Given the description of an element on the screen output the (x, y) to click on. 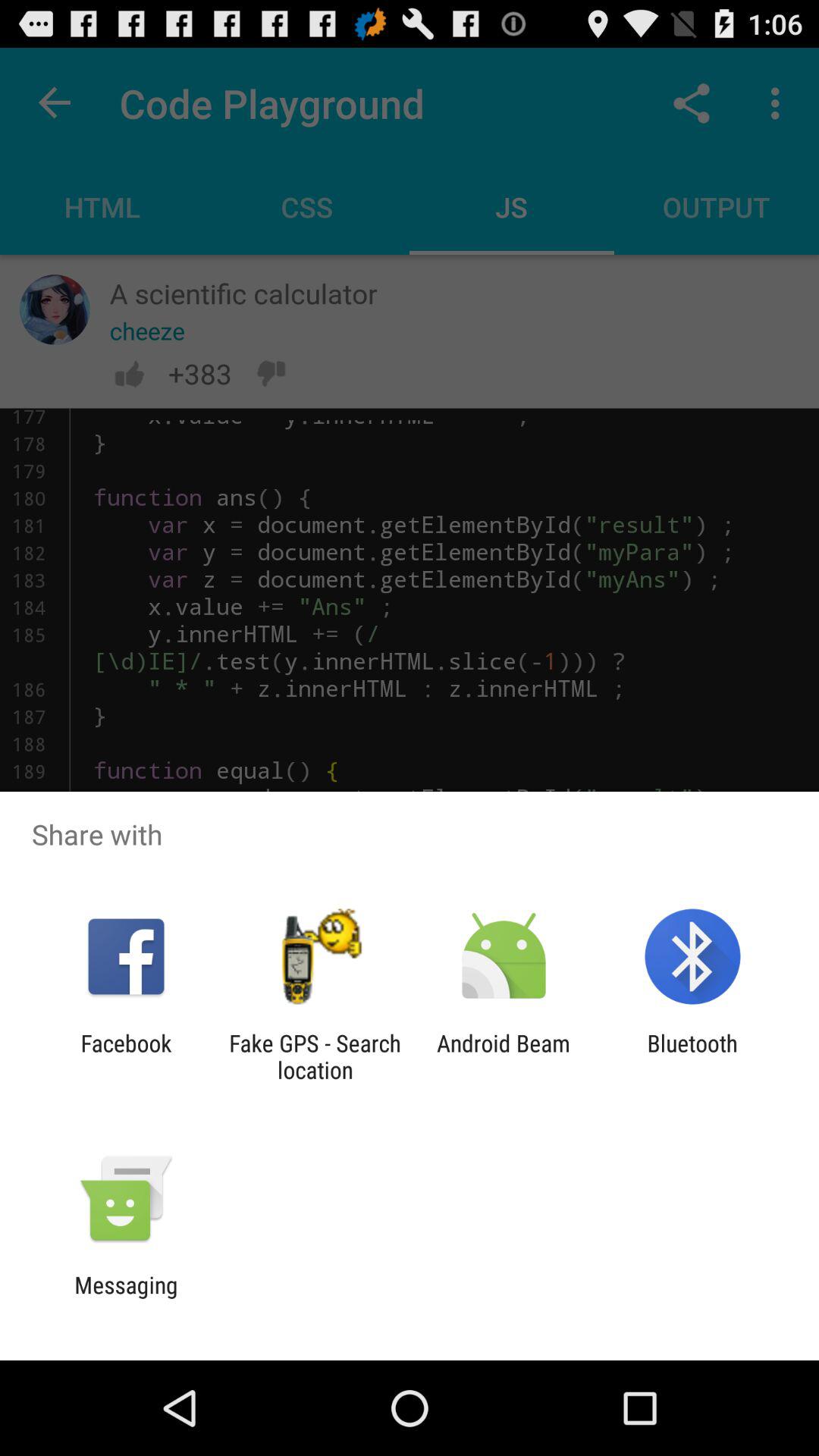
swipe until fake gps search (314, 1056)
